Given the description of an element on the screen output the (x, y) to click on. 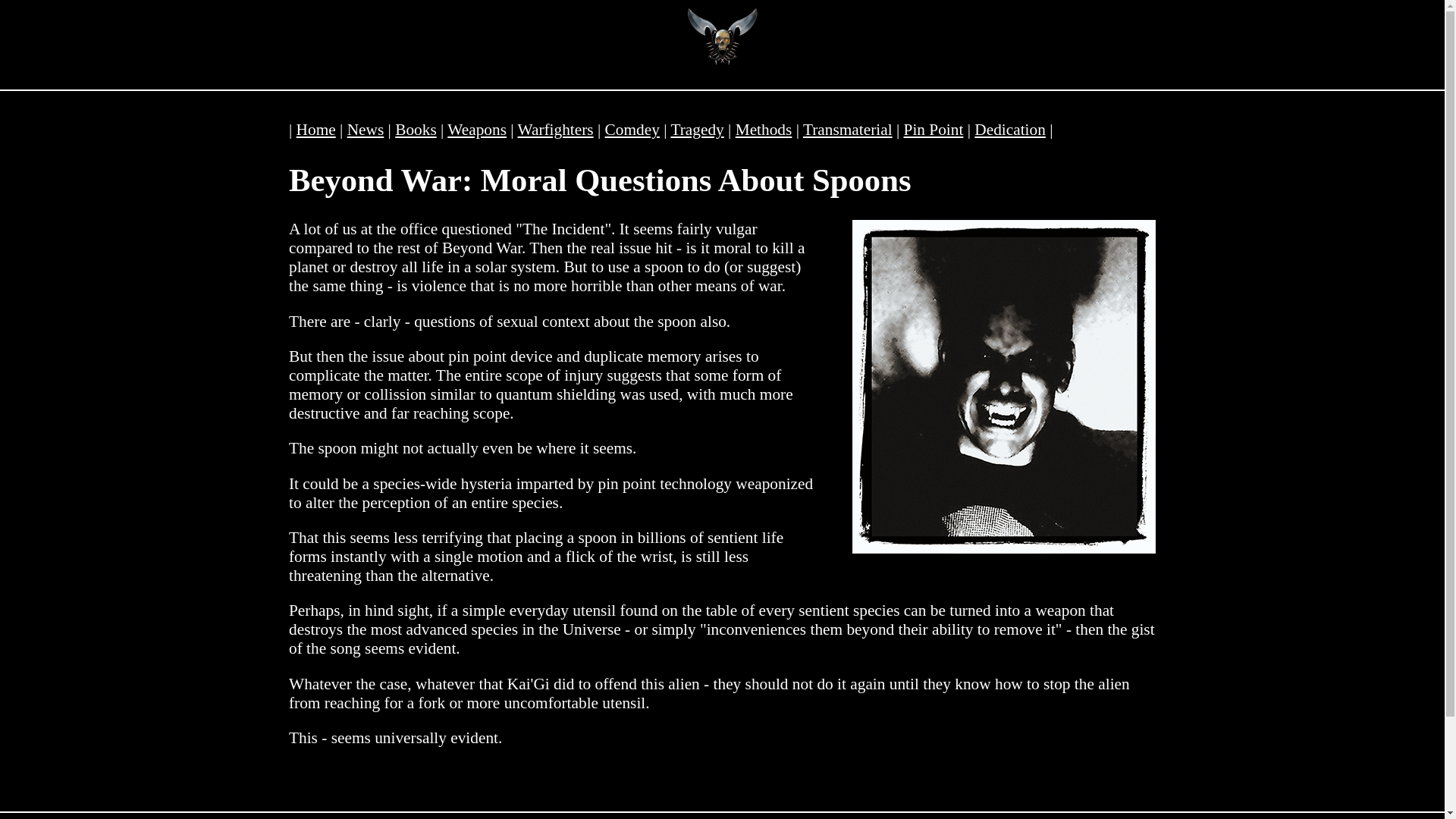
Comdey (632, 129)
Warfighters (554, 129)
Tragedy (696, 129)
Books (415, 129)
Weapons (476, 129)
News (365, 129)
Transmaterial (847, 129)
Home (316, 129)
Dedication (1009, 129)
Methods (763, 129)
Pin Point (933, 129)
